Given the description of an element on the screen output the (x, y) to click on. 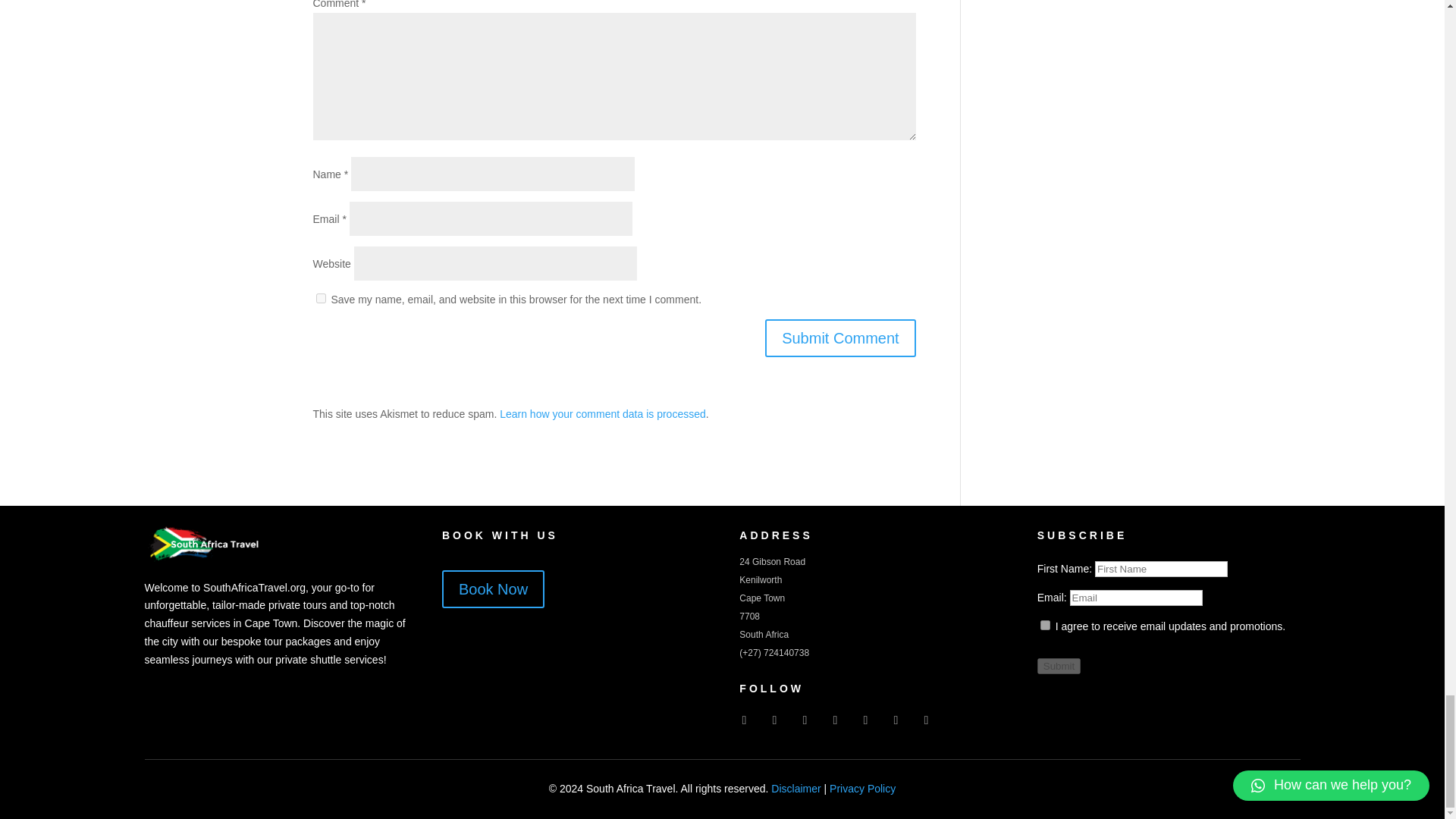
Follow on Telegram (925, 720)
Learn how your comment data is processed (602, 413)
Follow on Youtube (804, 720)
1 (1045, 624)
yes (319, 298)
Submit Comment (840, 338)
Follow on Facebook (743, 720)
Follow on X (834, 720)
Submit Comment (840, 338)
Follow on Pinterest (865, 720)
